Given the description of an element on the screen output the (x, y) to click on. 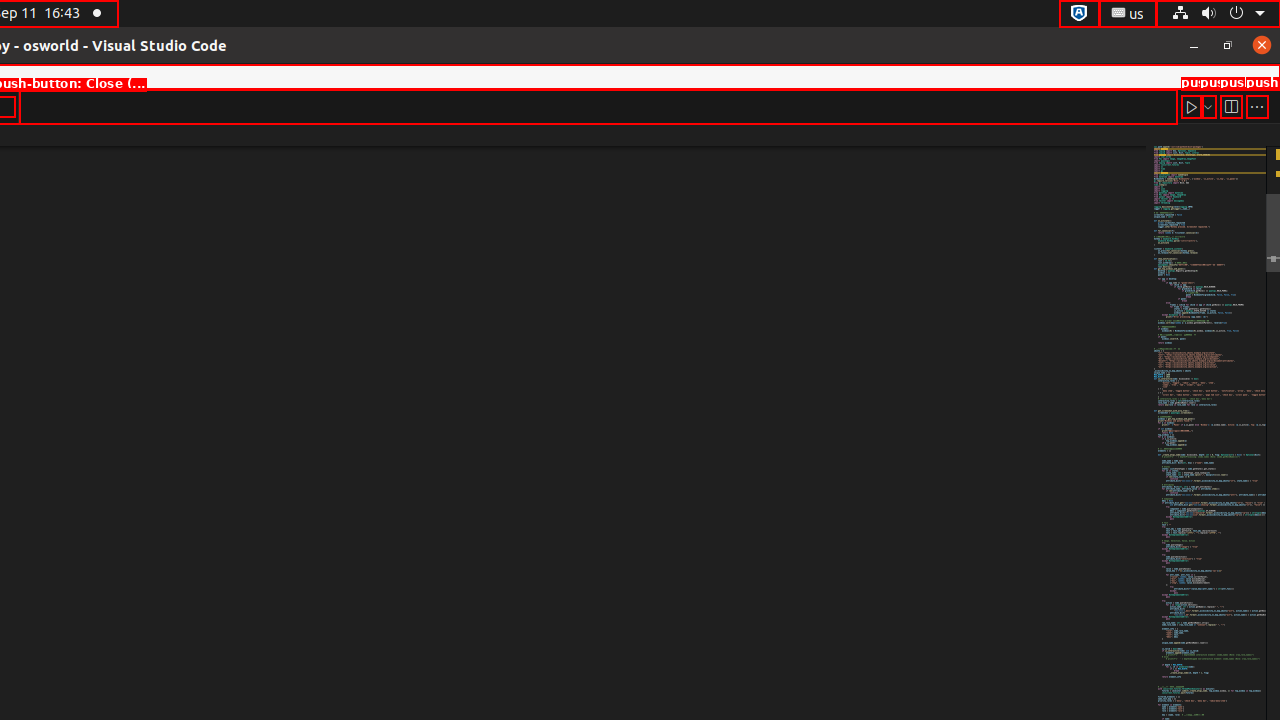
Run Python File Element type: push-button (1192, 106)
